Given the description of an element on the screen output the (x, y) to click on. 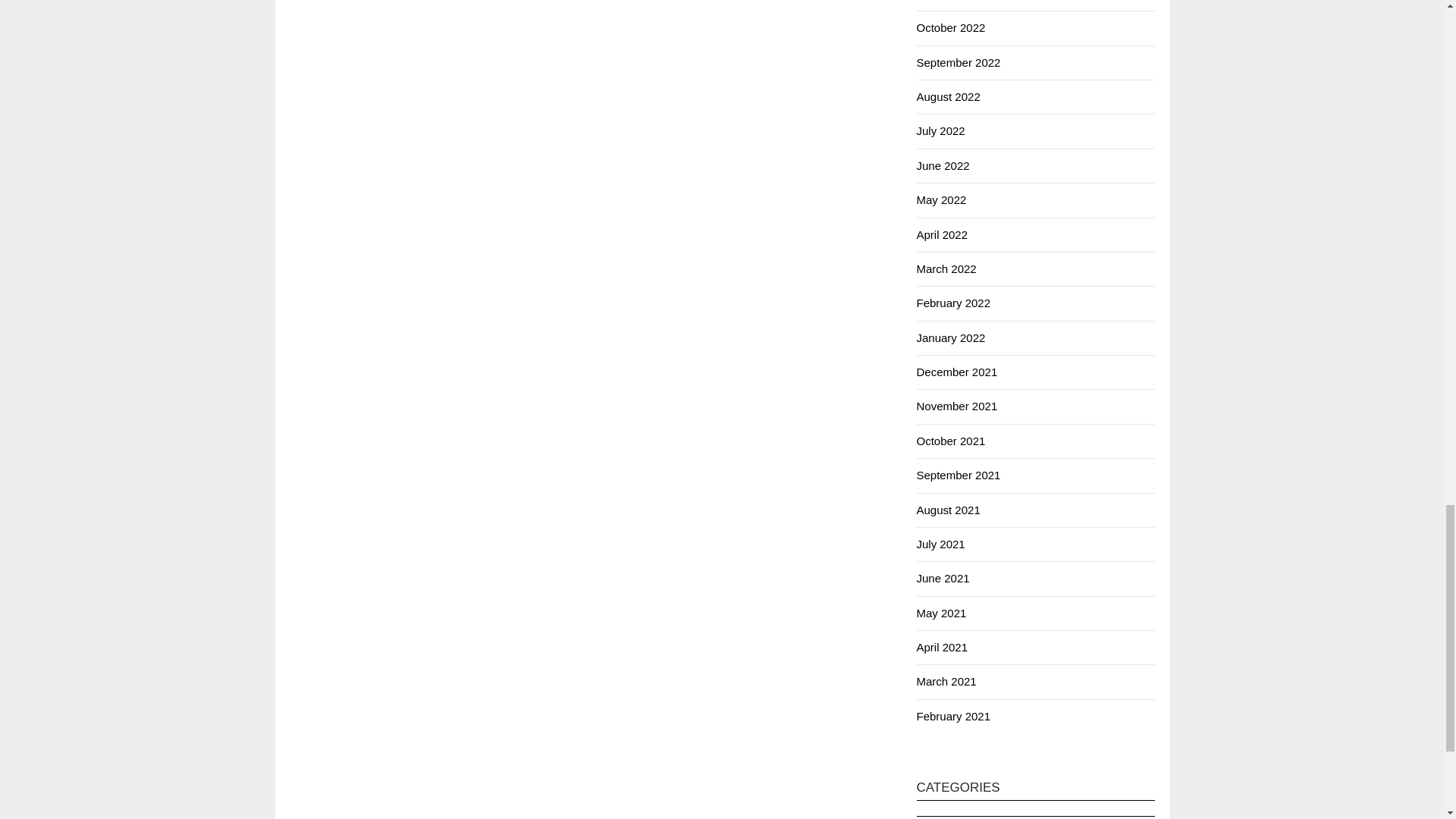
September 2022 (957, 62)
October 2022 (950, 27)
July 2022 (939, 130)
August 2022 (947, 96)
